Given the description of an element on the screen output the (x, y) to click on. 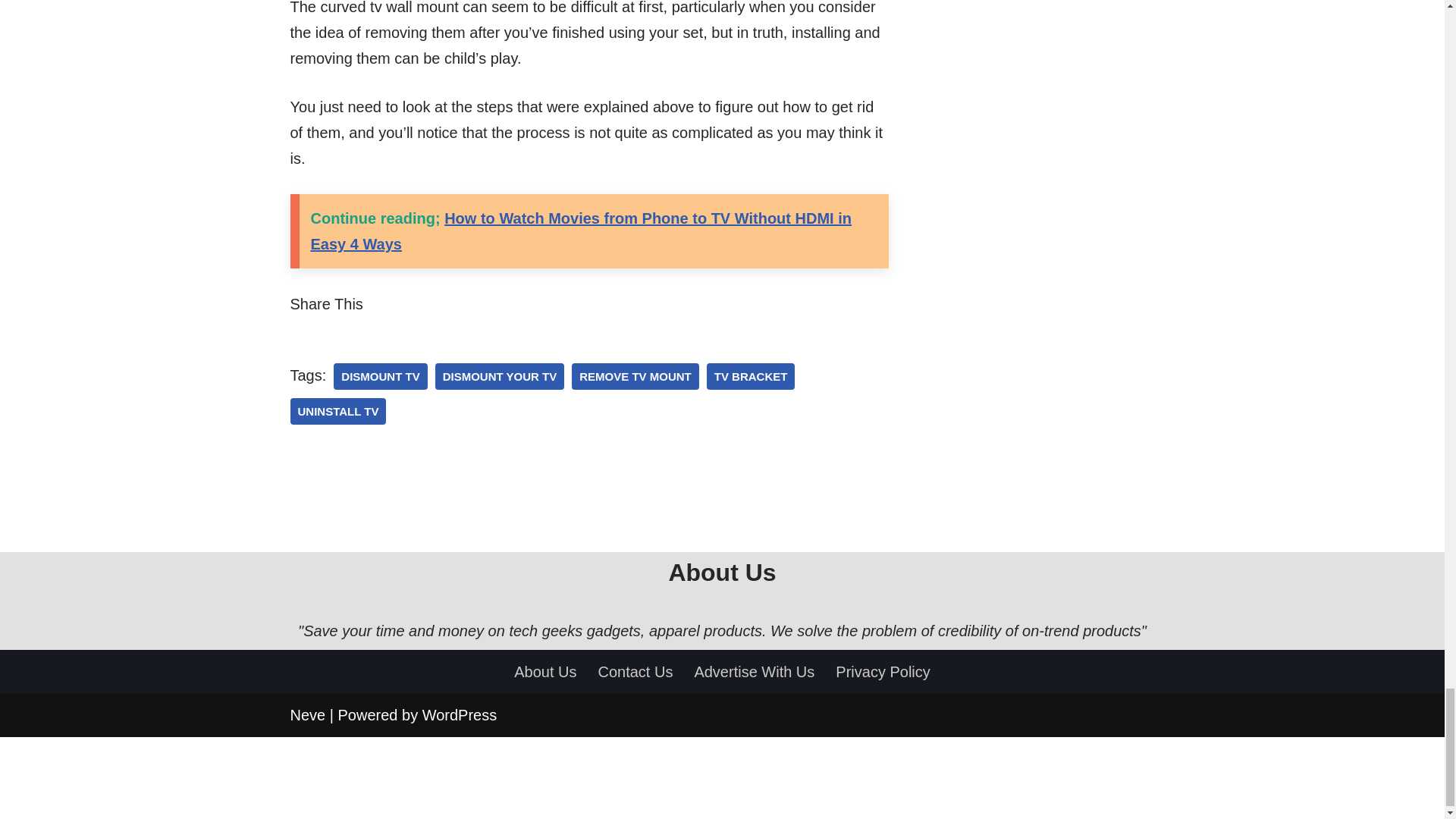
uninstall tv (337, 411)
dismount tv (379, 376)
dismount your tv (499, 376)
remove tv mount (635, 376)
TV BRACKET (750, 376)
